Given the description of an element on the screen output the (x, y) to click on. 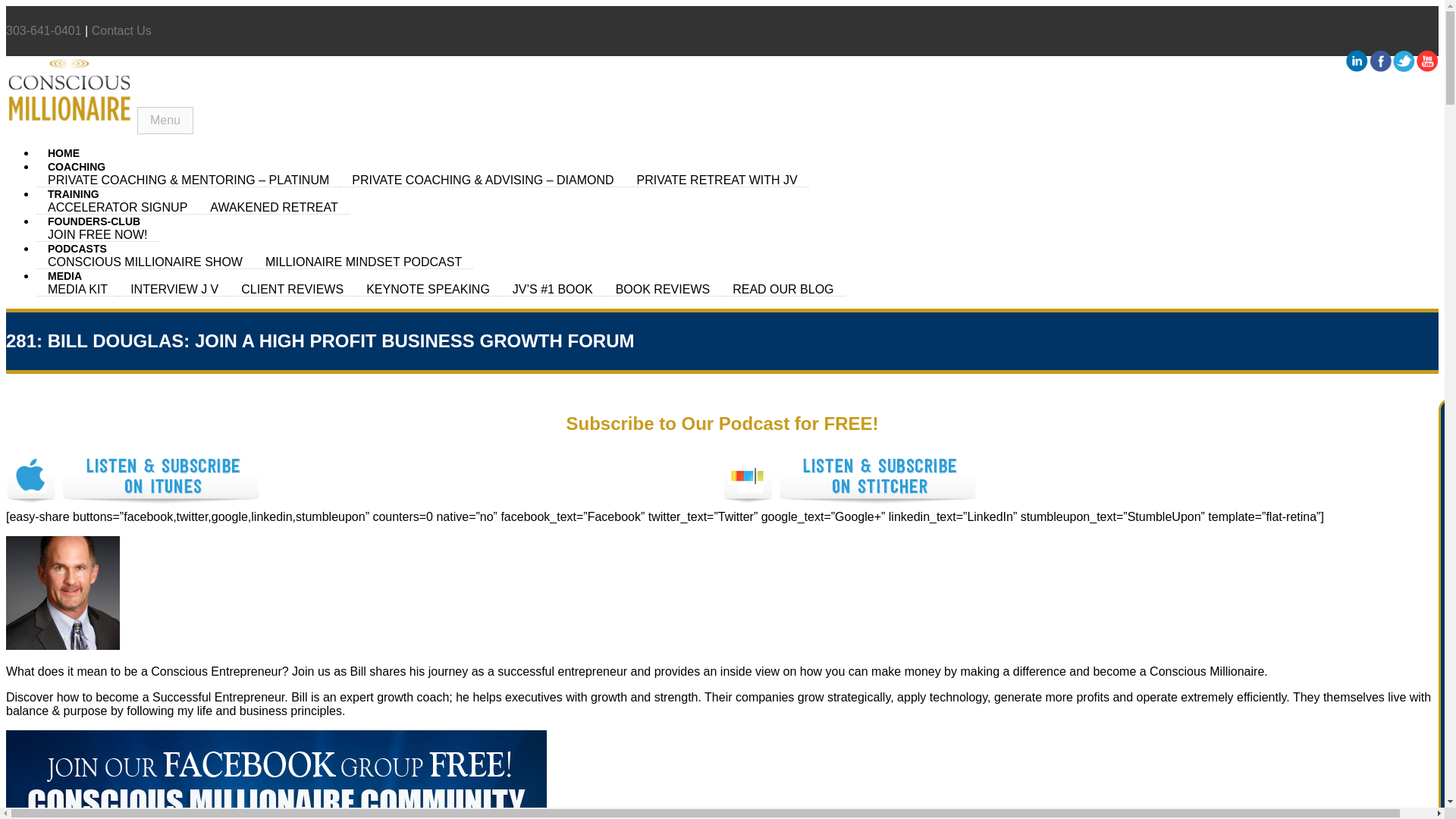
MILLIONAIRE MINDSET PODCAST (363, 262)
MEDIA KIT (77, 289)
AWAKENED RETREAT (273, 207)
TRAINING (73, 194)
INTERVIEW J V (174, 289)
READ OUR BLOG (782, 289)
Contact Us (121, 30)
CLIENT REVIEWS (292, 289)
Subscribe to Our Podcast for FREE! (721, 423)
BOOK REVIEWS (662, 289)
